Given the description of an element on the screen output the (x, y) to click on. 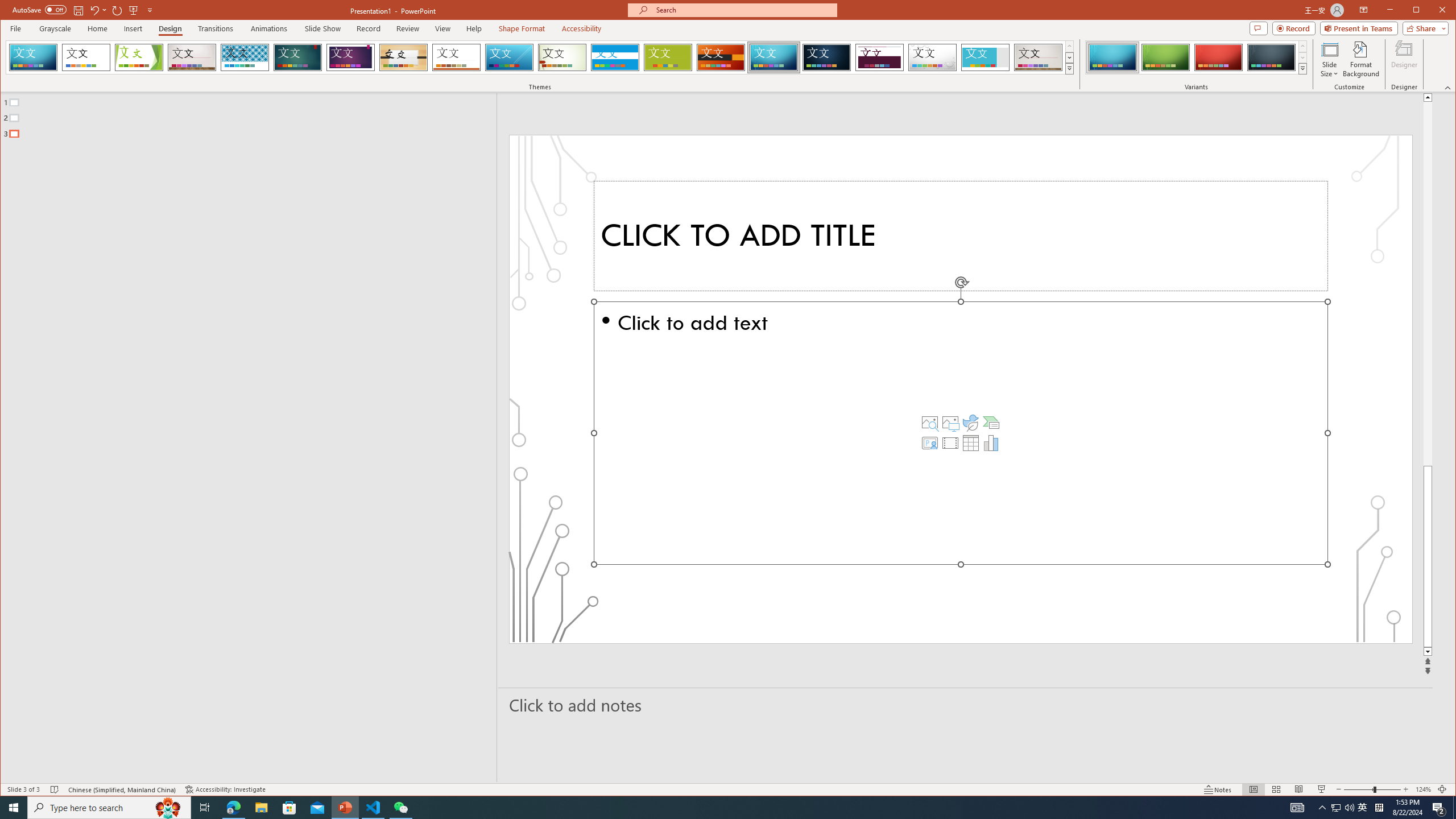
Content Placeholder (960, 433)
Droplet (932, 57)
Damask (826, 57)
